Given the description of an element on the screen output the (x, y) to click on. 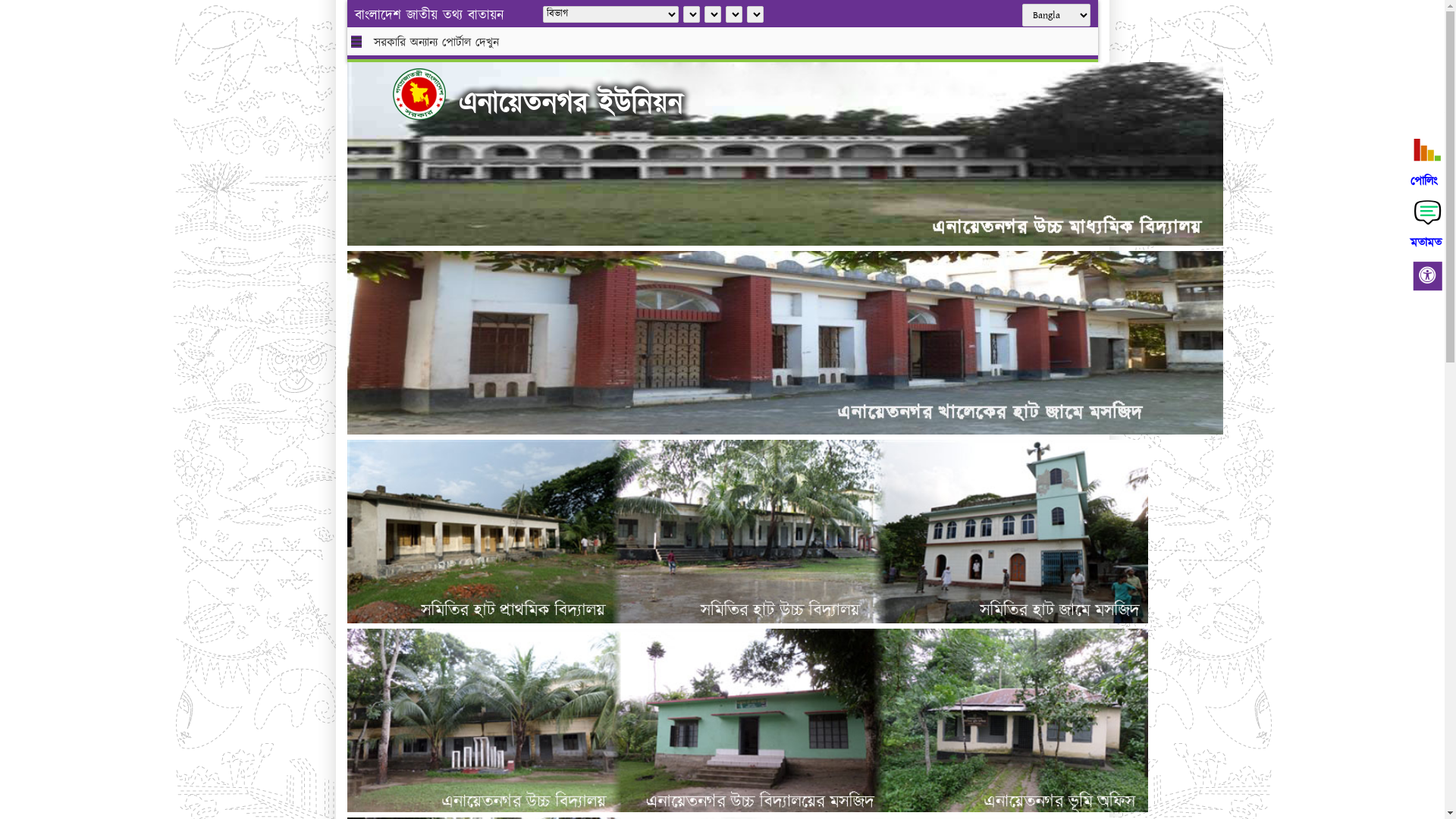

                
             Element type: hover (430, 93)
